Given the description of an element on the screen output the (x, y) to click on. 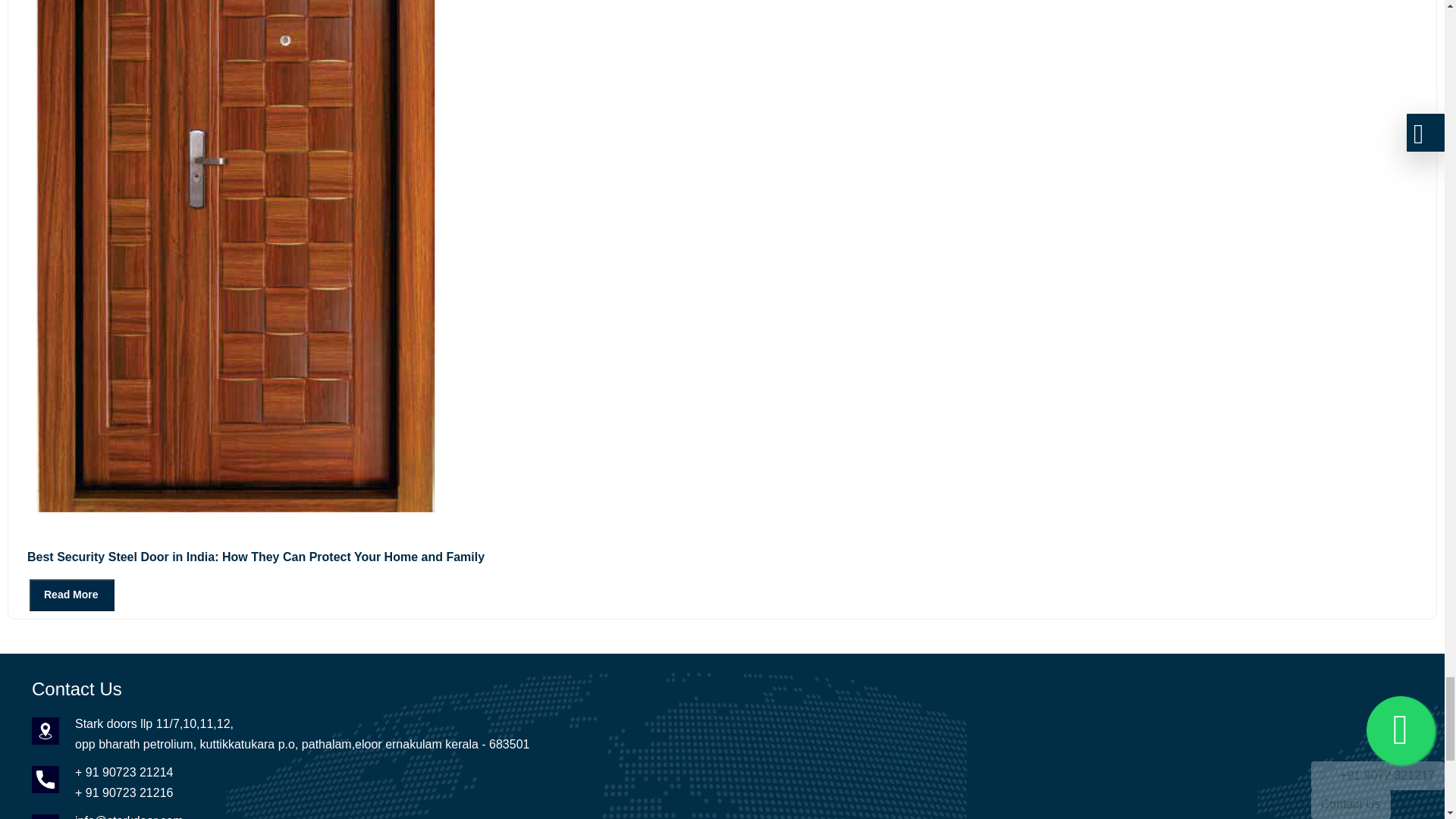
Read More (61, 594)
Read More (72, 594)
